Given the description of an element on the screen output the (x, y) to click on. 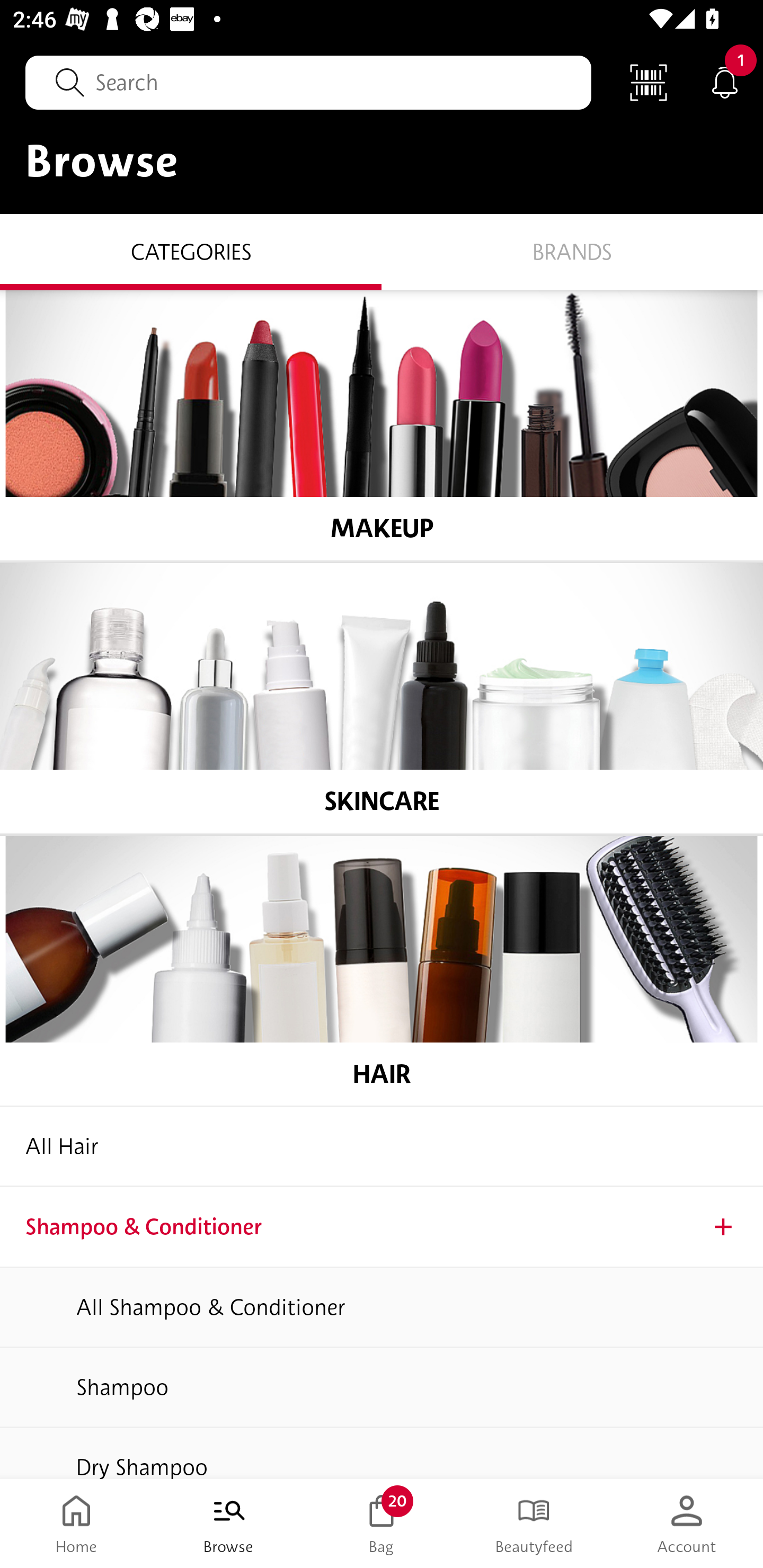
Scan Code (648, 81)
Notifications (724, 81)
Search (308, 81)
Brands BRANDS (572, 251)
MAKEUP (381, 425)
SKINCARE (381, 698)
All Hair (381, 1146)
All Shampoo & Conditioner (381, 1308)
Shampoo (381, 1388)
Dry Shampoo (381, 1453)
Home (76, 1523)
Bag 20 Bag (381, 1523)
Beautyfeed (533, 1523)
Account (686, 1523)
